Given the description of an element on the screen output the (x, y) to click on. 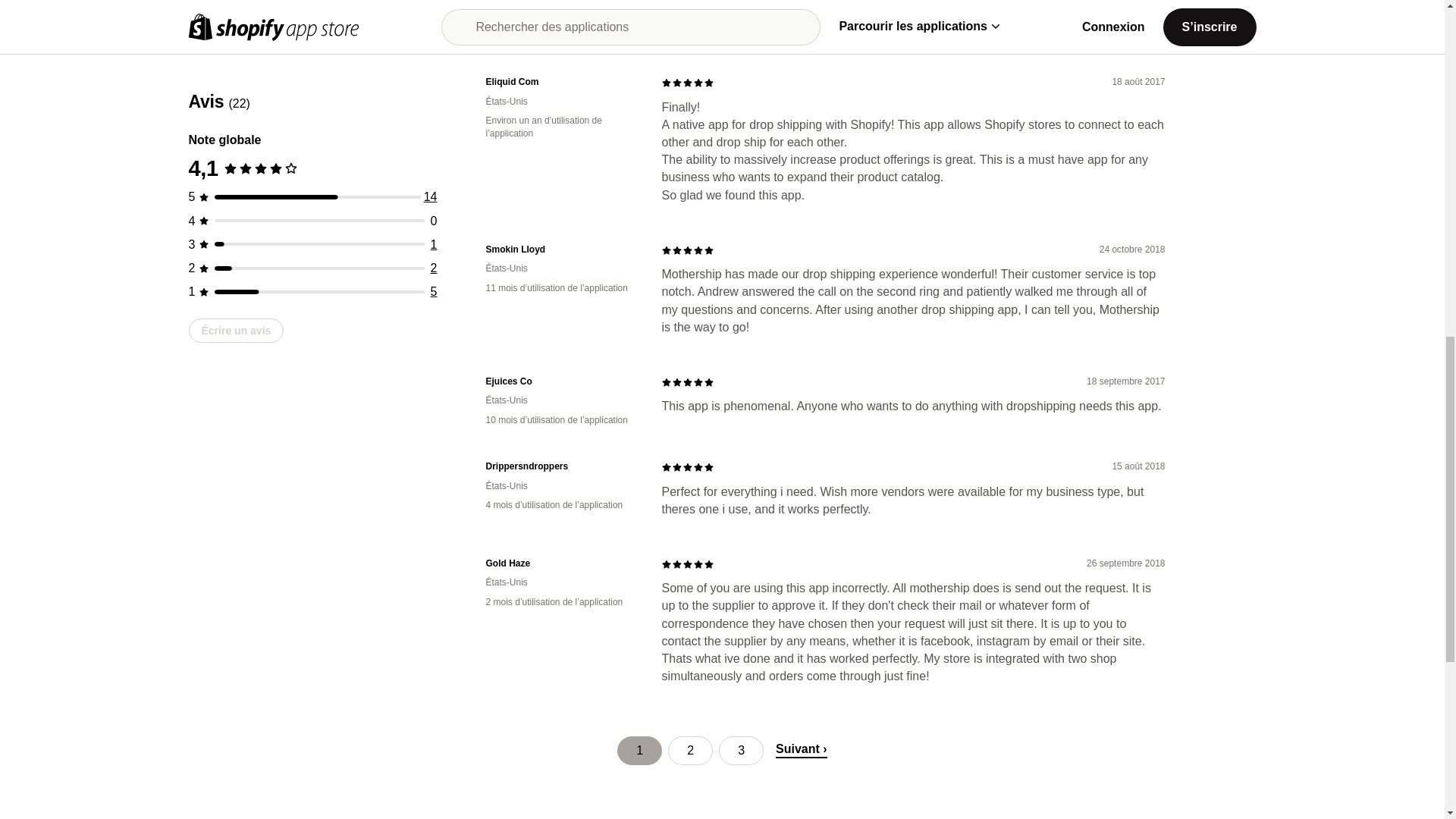
Eliquid Com (560, 82)
Drippersndroppers (560, 466)
Ejuices Co (560, 381)
Gold Haze (560, 563)
Smokin Lloyd (560, 249)
